Given the description of an element on the screen output the (x, y) to click on. 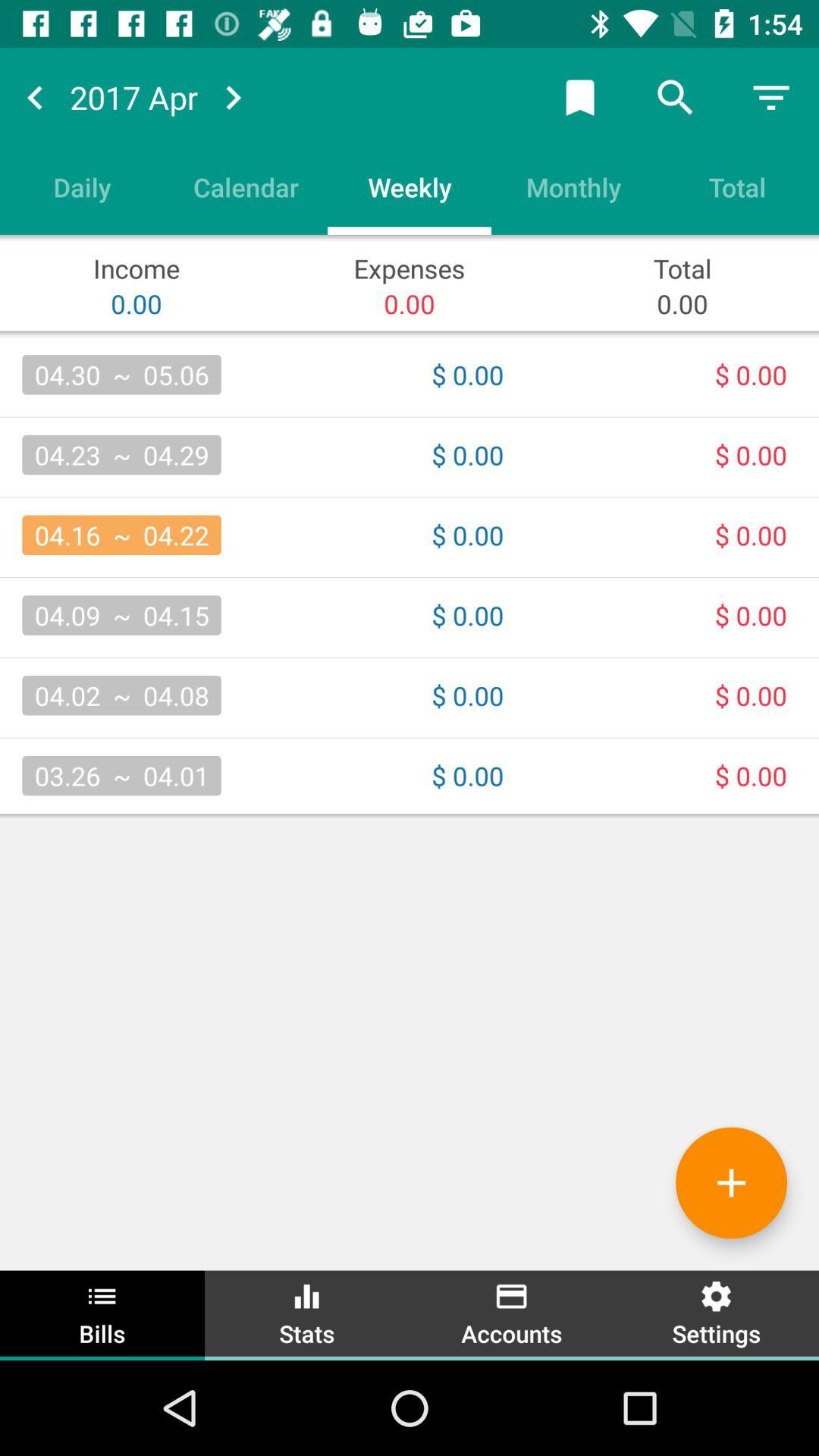
open icon next to daily item (245, 186)
